Given the description of an element on the screen output the (x, y) to click on. 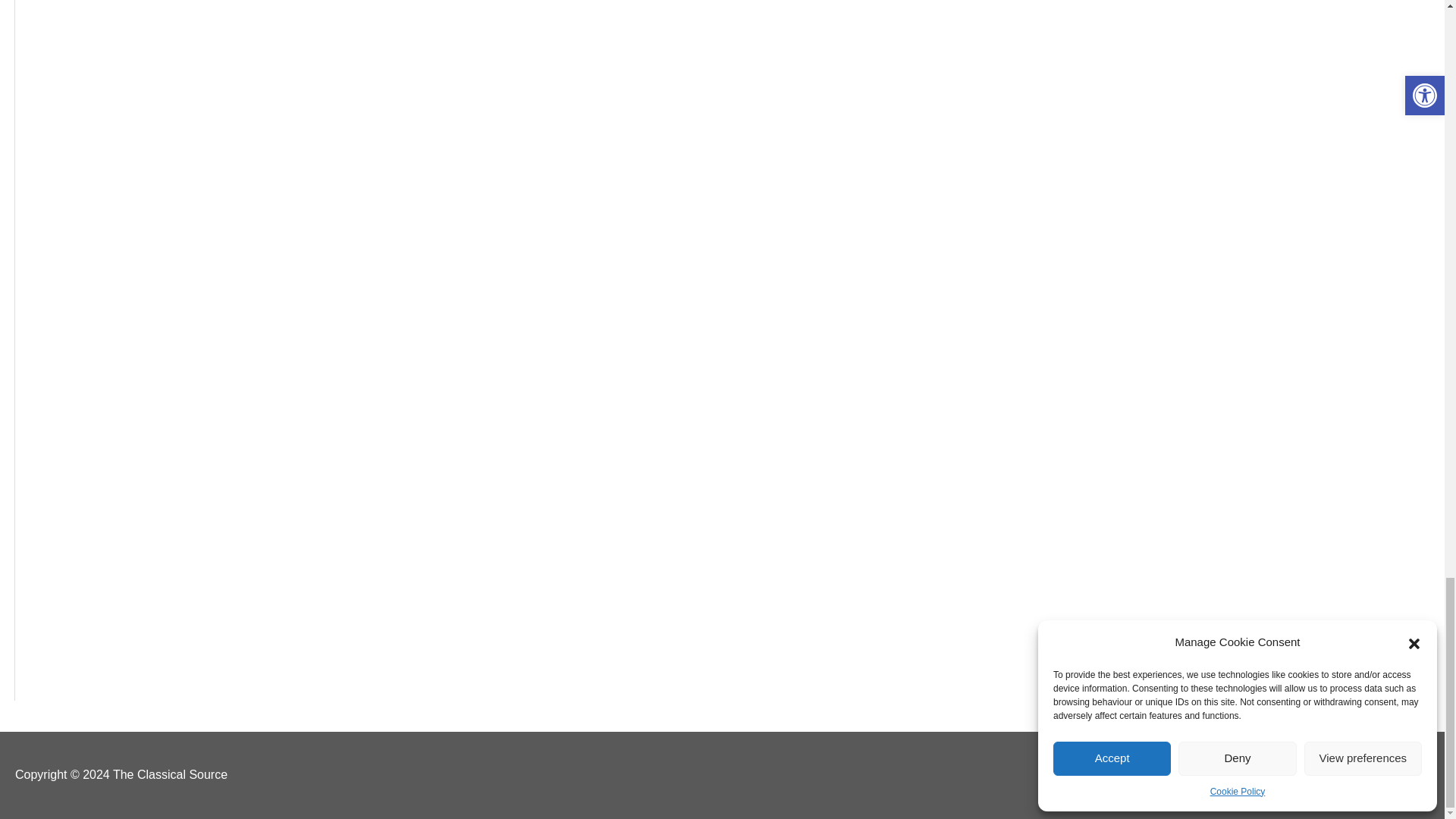
Advertisement (160, 473)
Advertisement (160, 105)
